Given the description of an element on the screen output the (x, y) to click on. 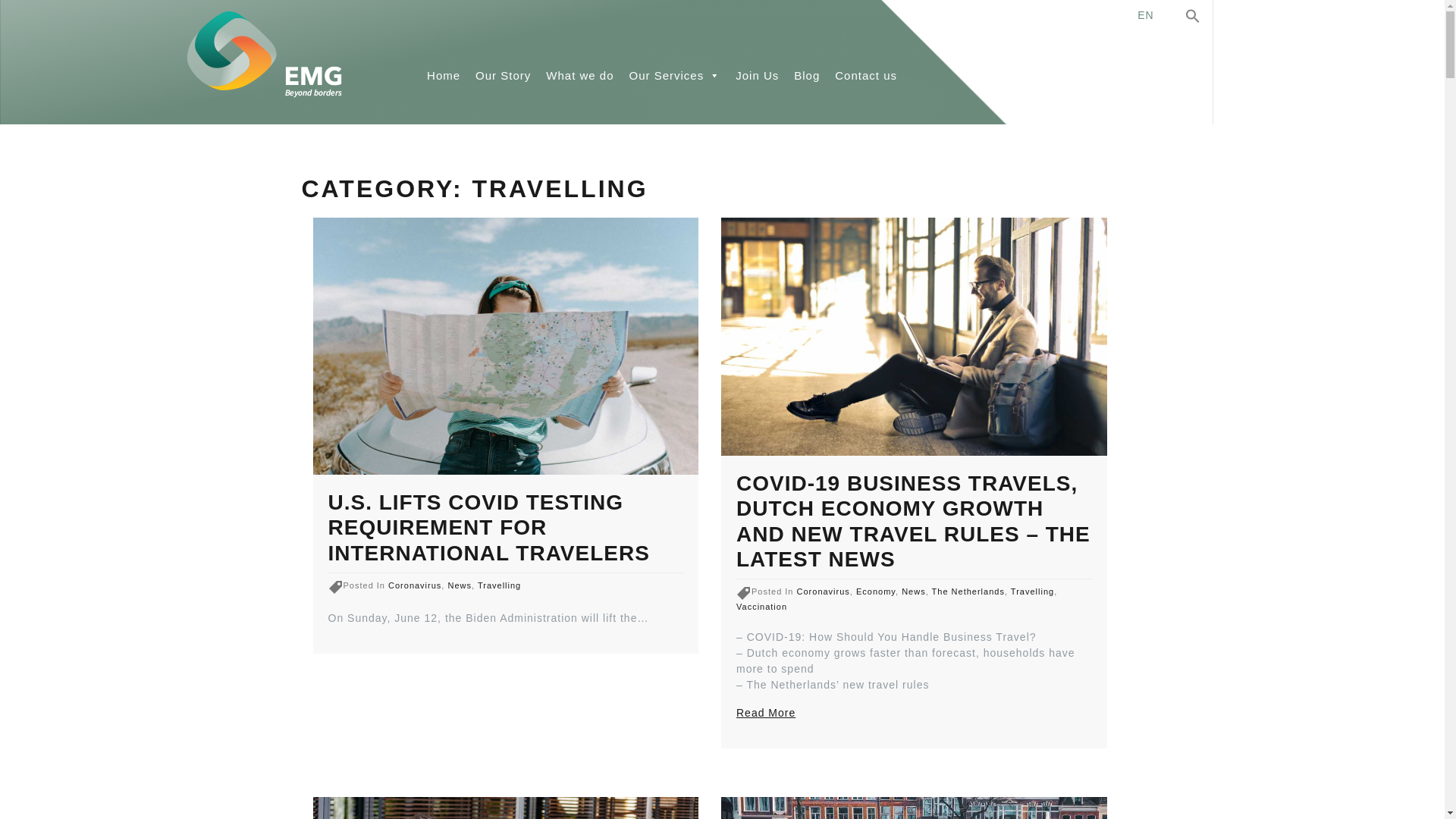
Our Services (675, 75)
Home (443, 75)
What we do (579, 75)
Join Us (757, 75)
Coronavirus (414, 584)
Our Story (502, 75)
Blog (806, 75)
Contact us (865, 75)
EN (1145, 15)
